Given the description of an element on the screen output the (x, y) to click on. 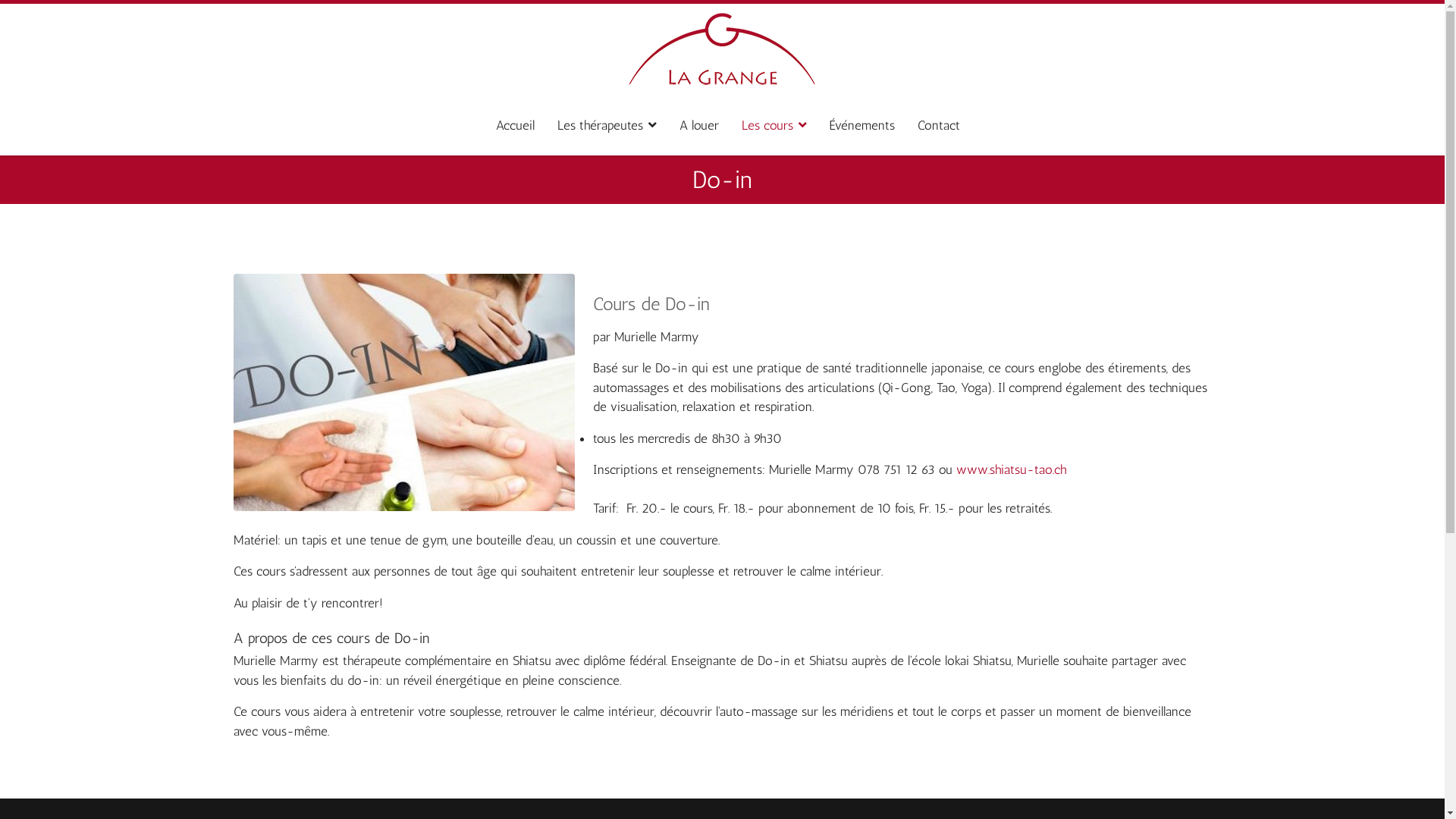
Les cours Element type: text (774, 124)
Contact Element type: text (933, 124)
www.shiatsu-tao.ch Element type: text (1010, 468)
A louer Element type: text (699, 124)
Accueil Element type: text (515, 124)
